Given the description of an element on the screen output the (x, y) to click on. 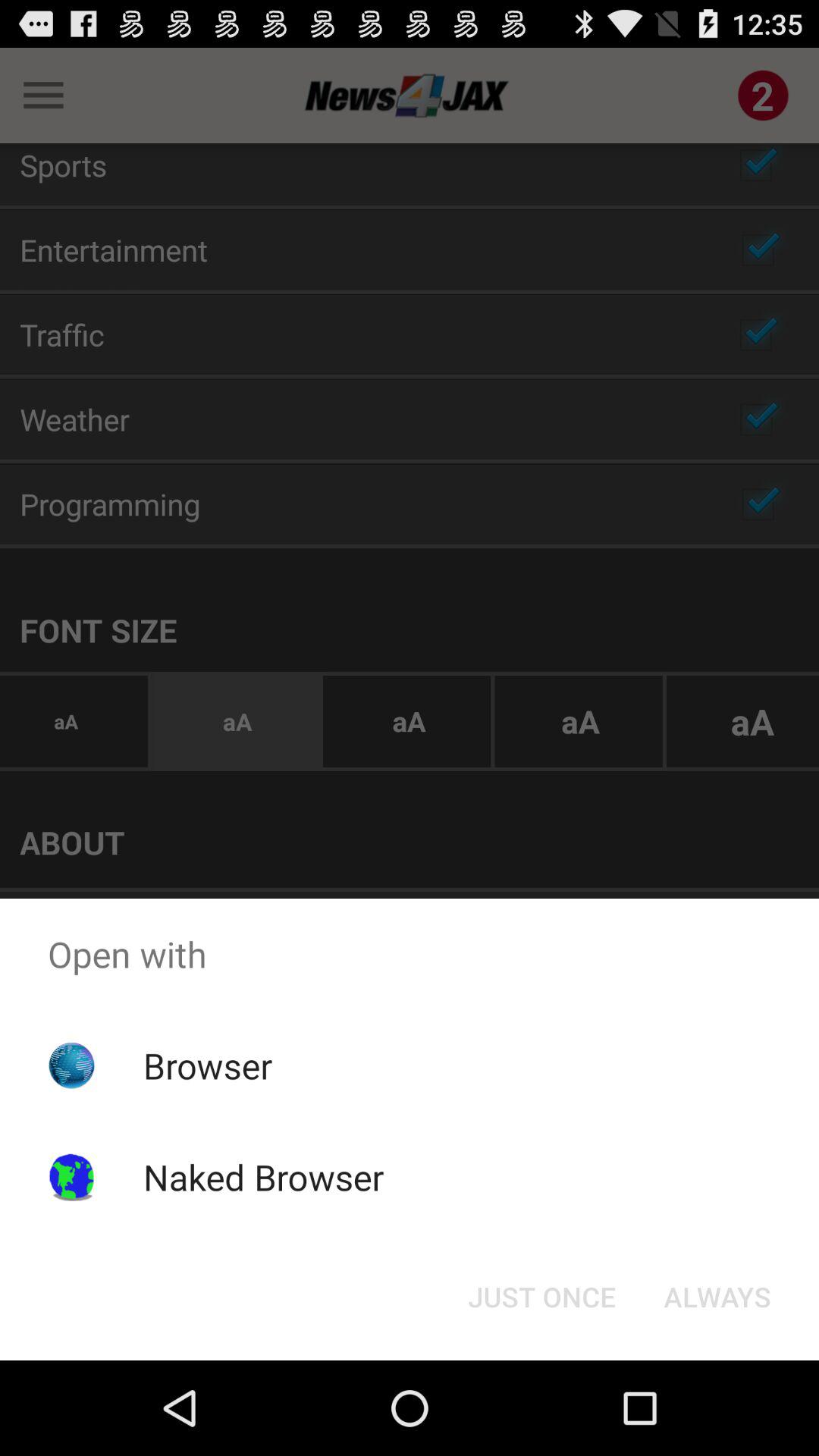
press the icon below open with (717, 1296)
